Given the description of an element on the screen output the (x, y) to click on. 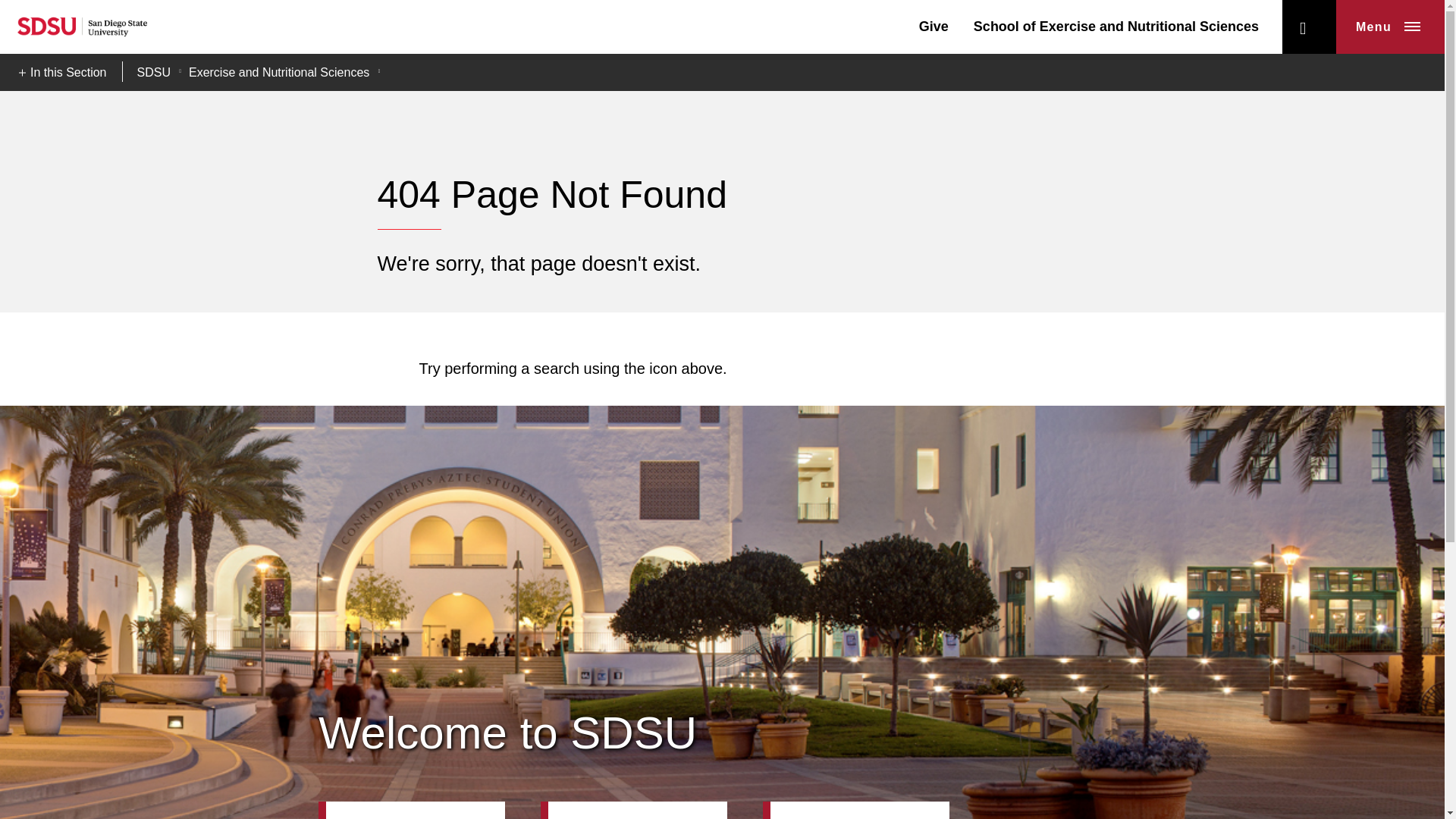
Give (933, 26)
School of Exercise and Nutritional Sciences (1116, 26)
open (1309, 27)
